Given the description of an element on the screen output the (x, y) to click on. 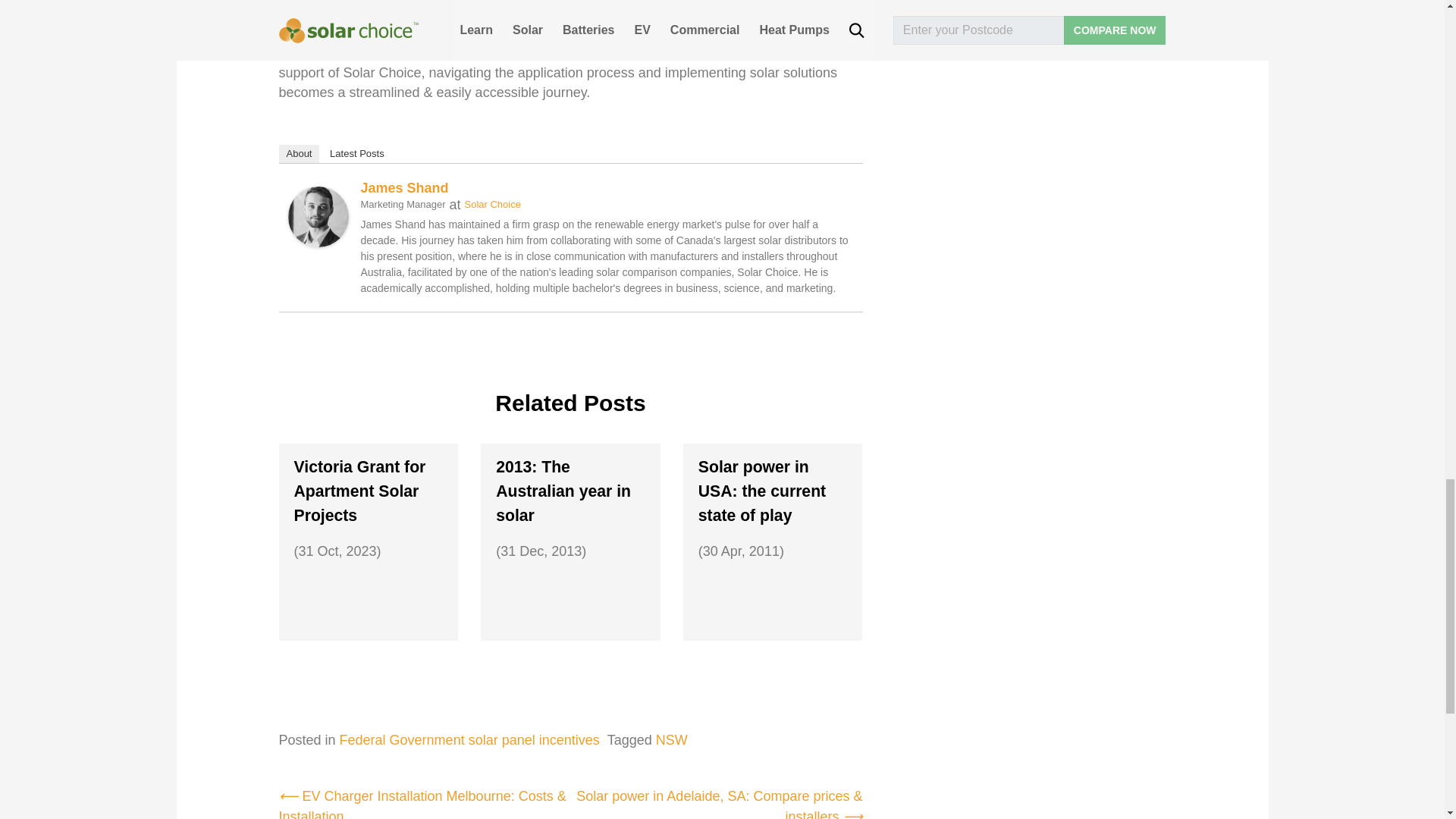
Solar power in USA: the current state of play (772, 490)
2013: The Australian year in solar (570, 490)
Victoria Grant for Apartment Solar Projects (369, 490)
James Shand (318, 215)
